Given the description of an element on the screen output the (x, y) to click on. 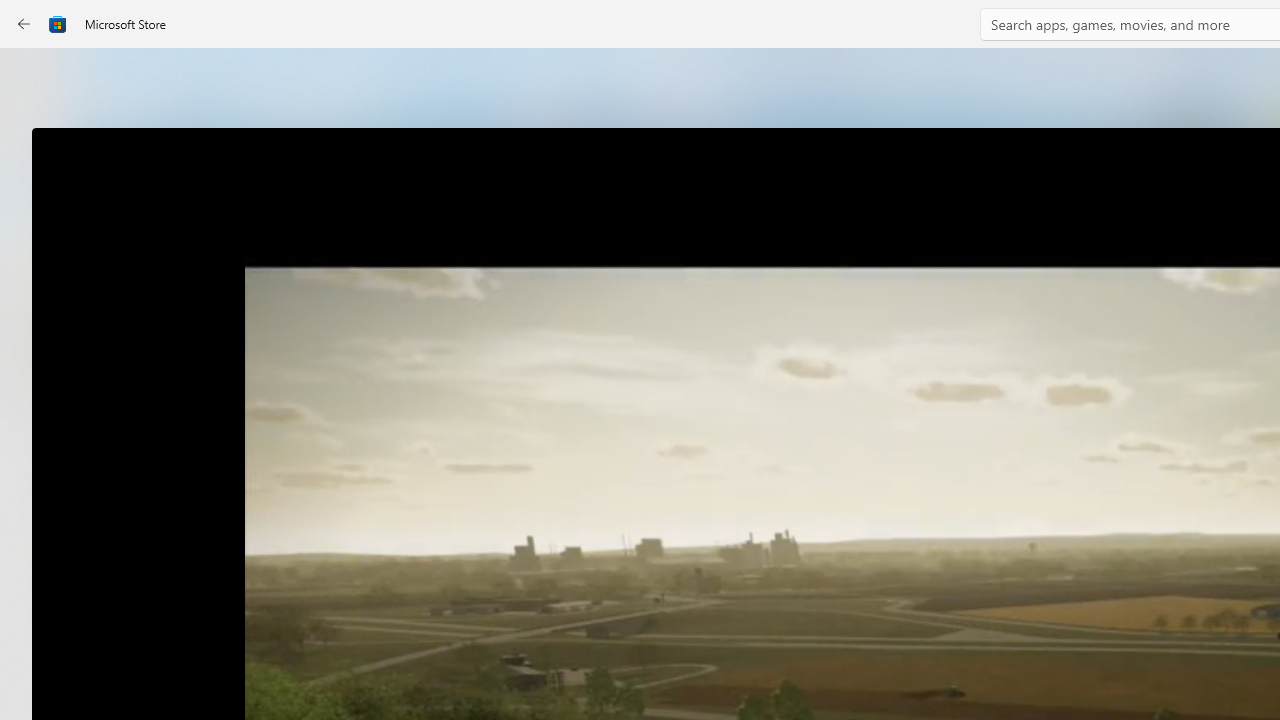
Back (24, 24)
